Given the description of an element on the screen output the (x, y) to click on. 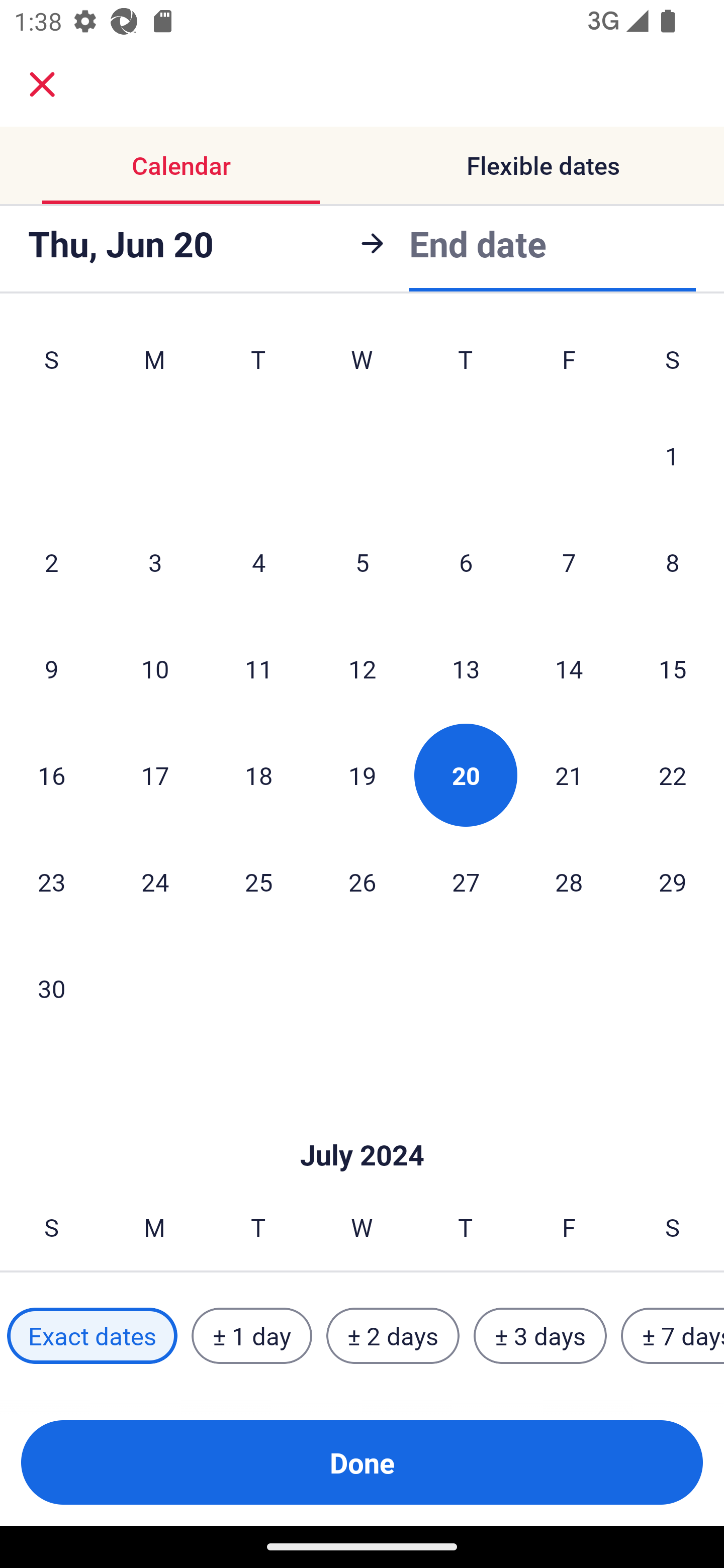
close. (42, 84)
Flexible dates (542, 164)
End date (477, 240)
1 Saturday, June 1, 2024 (672, 455)
2 Sunday, June 2, 2024 (51, 562)
3 Monday, June 3, 2024 (155, 562)
4 Tuesday, June 4, 2024 (258, 562)
5 Wednesday, June 5, 2024 (362, 562)
6 Thursday, June 6, 2024 (465, 562)
7 Friday, June 7, 2024 (569, 562)
8 Saturday, June 8, 2024 (672, 562)
9 Sunday, June 9, 2024 (51, 668)
10 Monday, June 10, 2024 (155, 668)
11 Tuesday, June 11, 2024 (258, 668)
12 Wednesday, June 12, 2024 (362, 668)
13 Thursday, June 13, 2024 (465, 668)
14 Friday, June 14, 2024 (569, 668)
15 Saturday, June 15, 2024 (672, 668)
16 Sunday, June 16, 2024 (51, 775)
17 Monday, June 17, 2024 (155, 775)
18 Tuesday, June 18, 2024 (258, 775)
19 Wednesday, June 19, 2024 (362, 775)
21 Friday, June 21, 2024 (569, 775)
22 Saturday, June 22, 2024 (672, 775)
23 Sunday, June 23, 2024 (51, 880)
24 Monday, June 24, 2024 (155, 880)
25 Tuesday, June 25, 2024 (258, 880)
26 Wednesday, June 26, 2024 (362, 880)
27 Thursday, June 27, 2024 (465, 880)
28 Friday, June 28, 2024 (569, 880)
29 Saturday, June 29, 2024 (672, 880)
30 Sunday, June 30, 2024 (51, 987)
Skip to Done (362, 1125)
Exact dates (92, 1335)
± 1 day (251, 1335)
± 2 days (392, 1335)
± 3 days (539, 1335)
± 7 days (672, 1335)
Done (361, 1462)
